Given the description of an element on the screen output the (x, y) to click on. 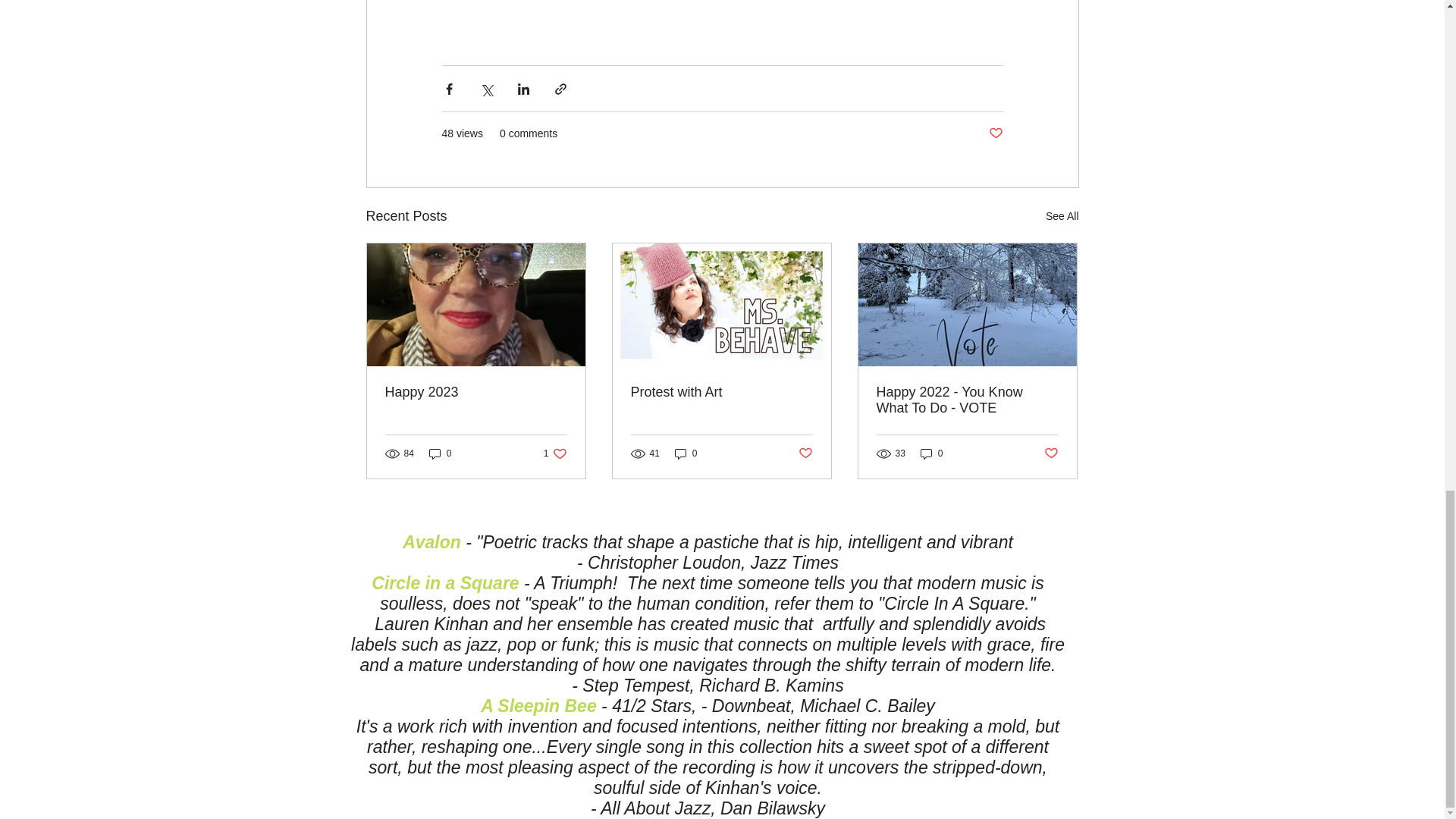
Happy 2023 (476, 392)
0 (440, 452)
0 (931, 452)
Post not marked as liked (995, 133)
Happy 2022 - You Know What To Do - VOTE (967, 400)
Post not marked as liked (555, 452)
0 (804, 453)
See All (685, 452)
Protest with Art (1061, 216)
